Given the description of an element on the screen output the (x, y) to click on. 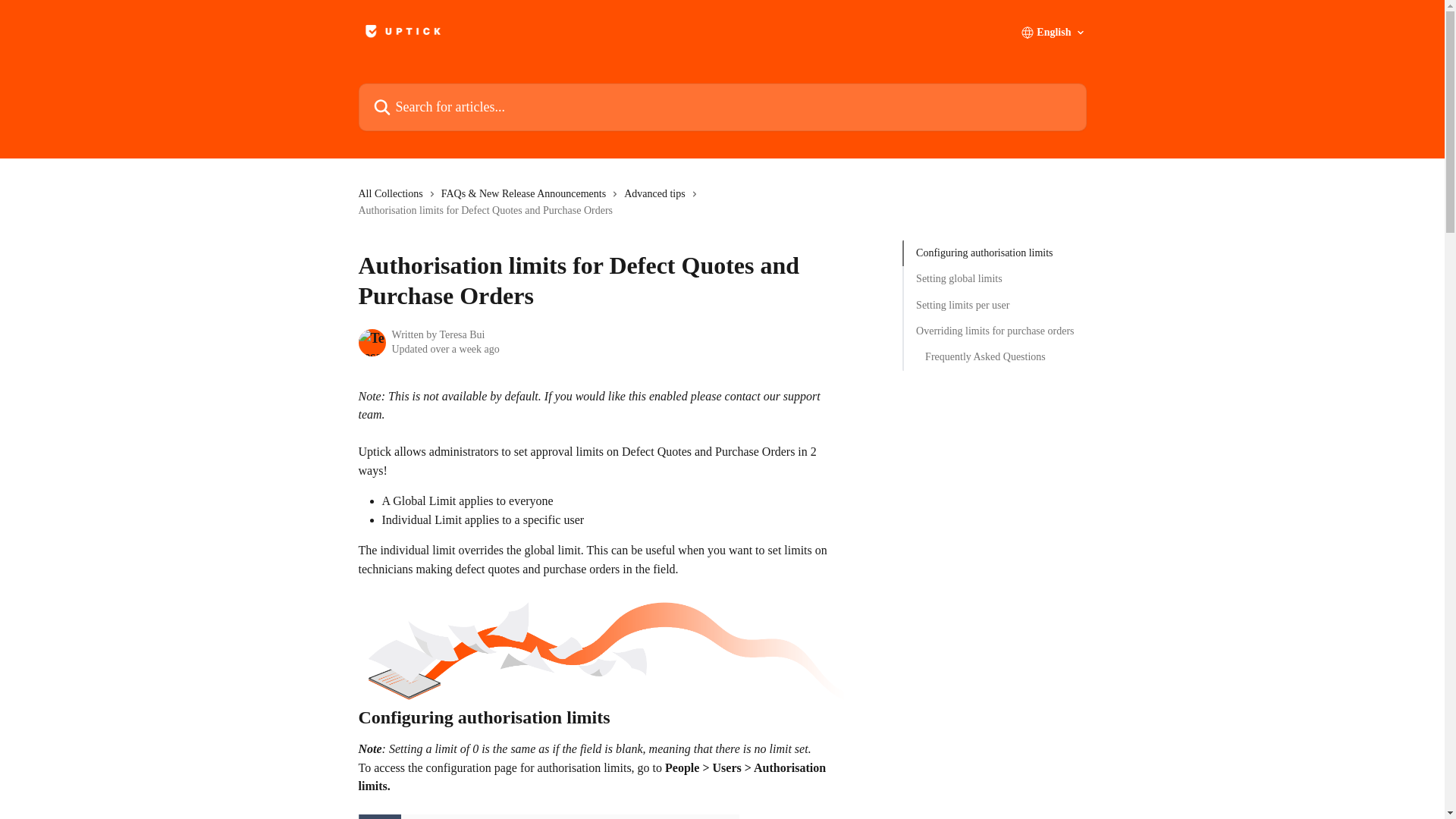
Configuring authorisation limits (994, 252)
Advanced tips (657, 193)
Frequently Asked Questions (994, 356)
Setting global limits (994, 279)
Overriding limits for purchase orders (994, 330)
All Collections (393, 193)
Setting limits per user (994, 305)
